Given the description of an element on the screen output the (x, y) to click on. 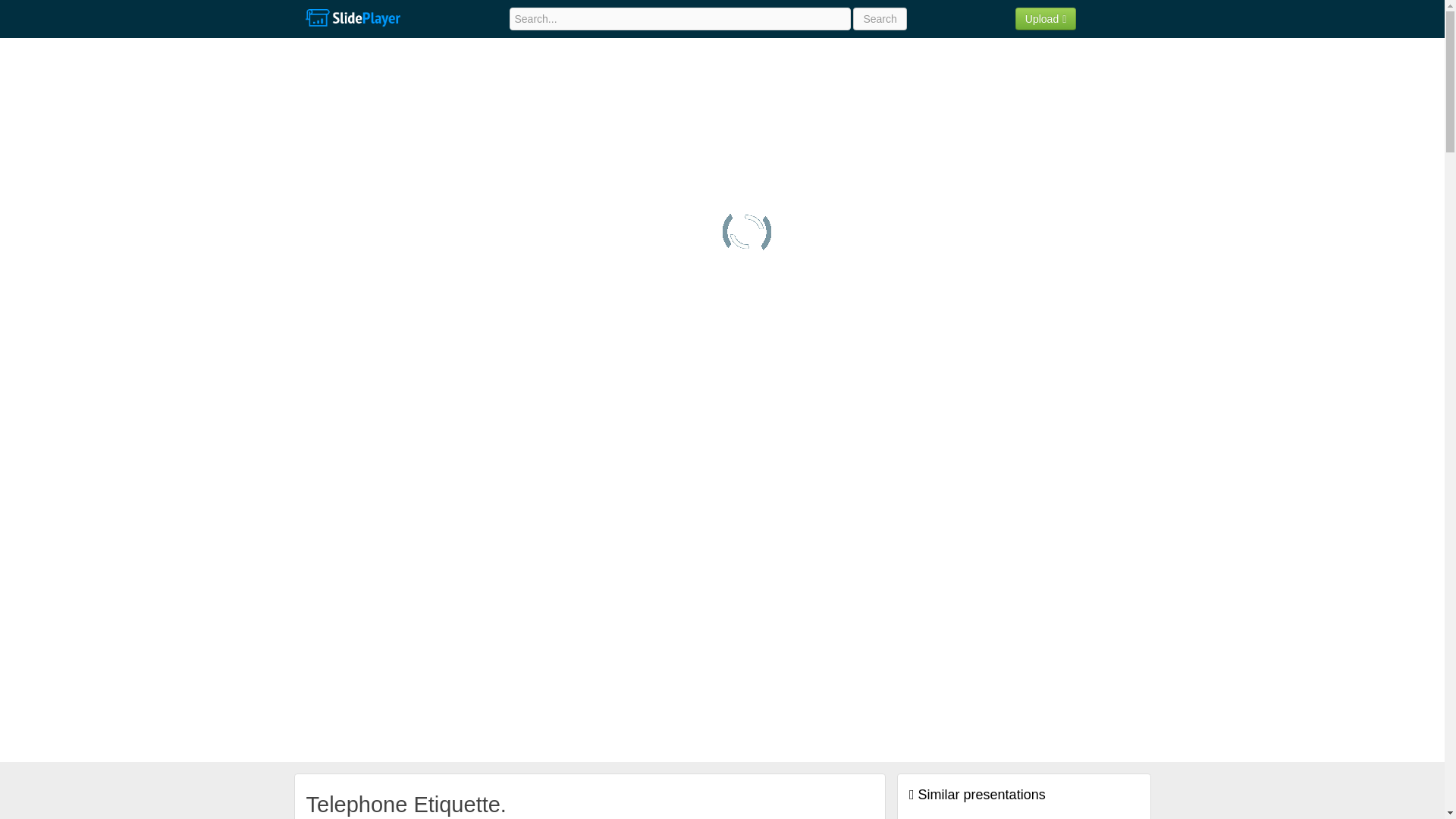
Presentation is loading. Please wait. (746, 232)
Upload (1045, 18)
SlidePlayer (352, 18)
Search (879, 18)
